Given the description of an element on the screen output the (x, y) to click on. 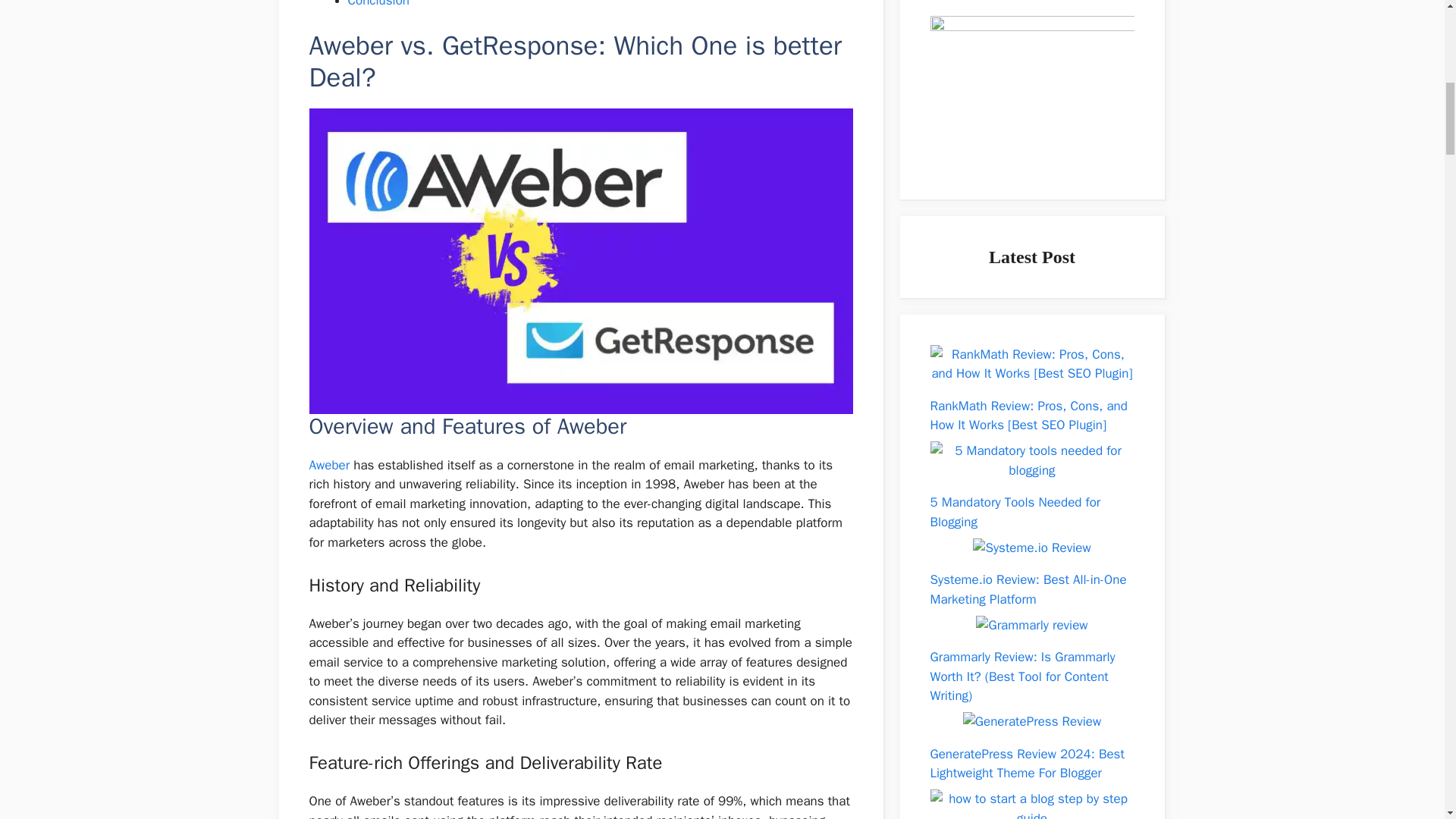
Aweber (329, 465)
Conclusion (378, 4)
Scroll back to top (1406, 720)
